Given the description of an element on the screen output the (x, y) to click on. 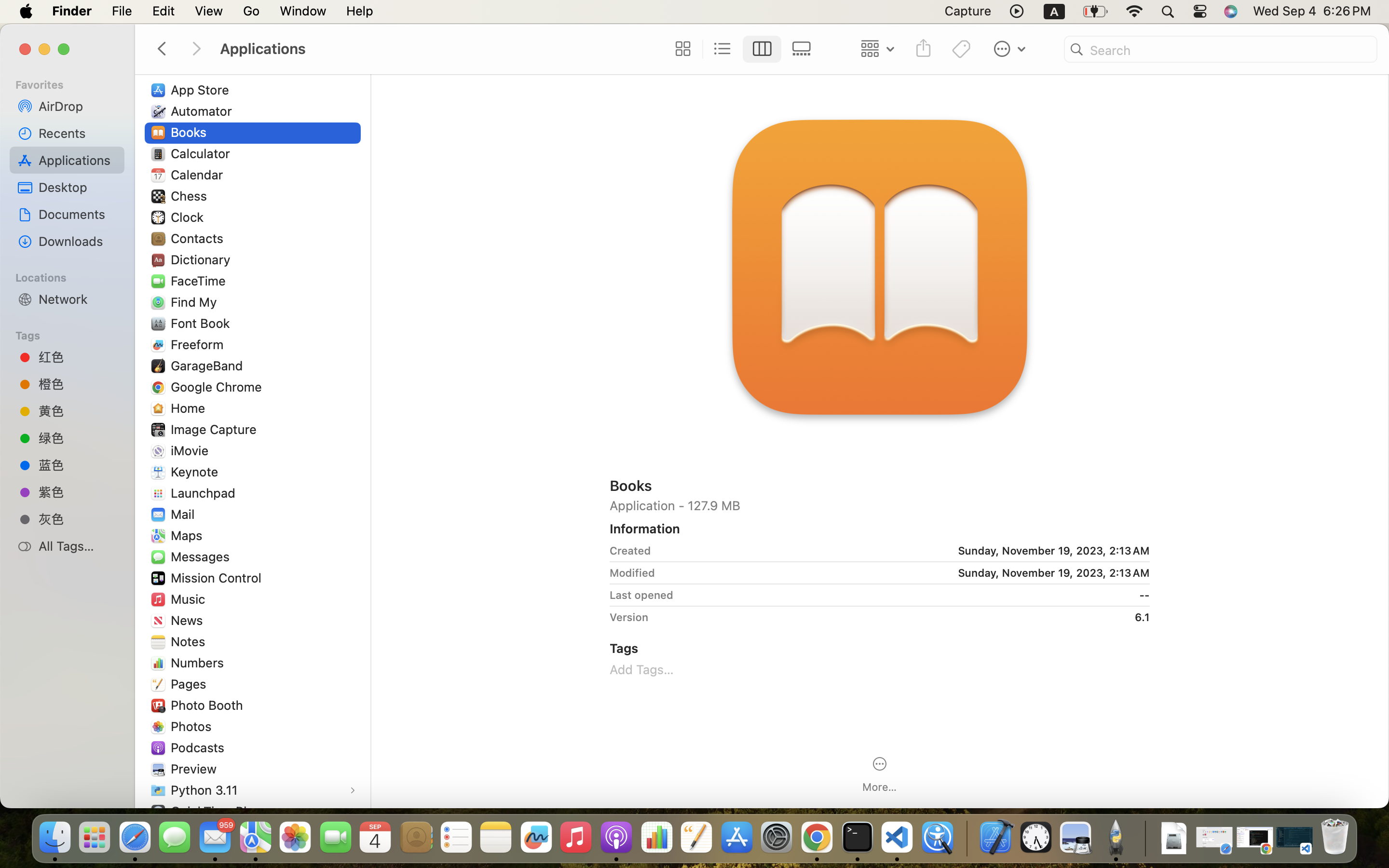
FaceTime Element type: AXTextField (200, 280)
Created Element type: AXStaticText (630, 550)
Clock Element type: AXTextField (189, 216)
红色 Element type: AXStaticText (77, 356)
Sunday, November 19, 2023, 2:13 AM Element type: AXStaticText (903, 550)
